Given the description of an element on the screen output the (x, y) to click on. 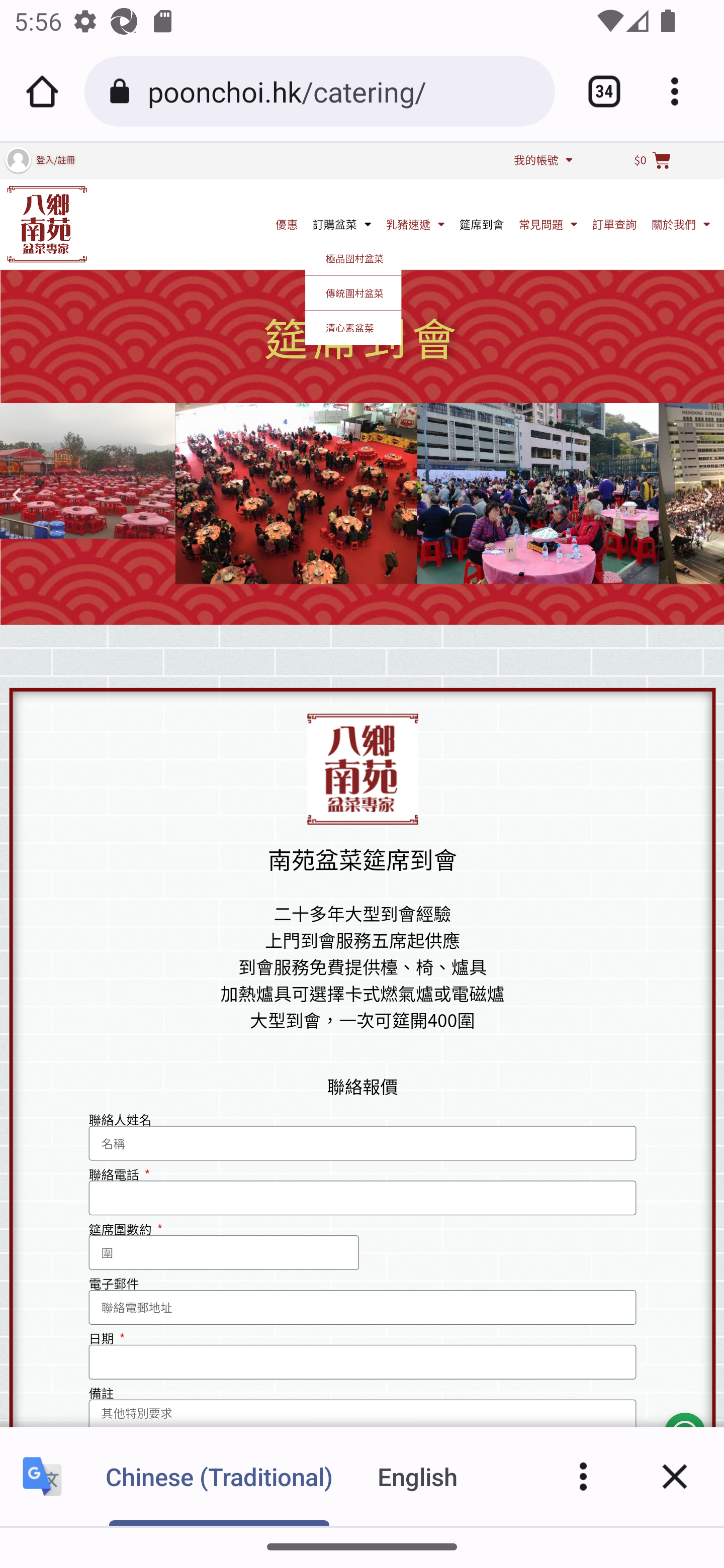
Home (42, 91)
Connection is secure (122, 91)
Switch or close tabs (597, 91)
More options (681, 91)
poonchoi.hk/catering/ (343, 90)
$0  購物籃 $ 0  (652, 159)
我的帳號  我的帳號  (543, 159)
my-account (17, 158)
登入/註冊 (55, 159)
www.poonchoi (46, 223)
訂購盆菜  訂購盆菜  (341, 223)
乳豬速遞  乳豬速遞  (414, 223)
筵席到會 (481, 223)
常見問題  常見問題  (547, 223)
訂單查詢 (614, 223)
關於我們  關於我們  (680, 223)
極品圍村盆菜 (352, 257)
傳統圍村盆菜 (352, 292)
清心素盆菜 (352, 326)
Previous slide Next slide (362, 494)
Previous slide (16, 495)
Next slide (708, 495)
筵席圍數約 * (223, 1252)
English (417, 1475)
More options (582, 1475)
Close (674, 1475)
